Given the description of an element on the screen output the (x, y) to click on. 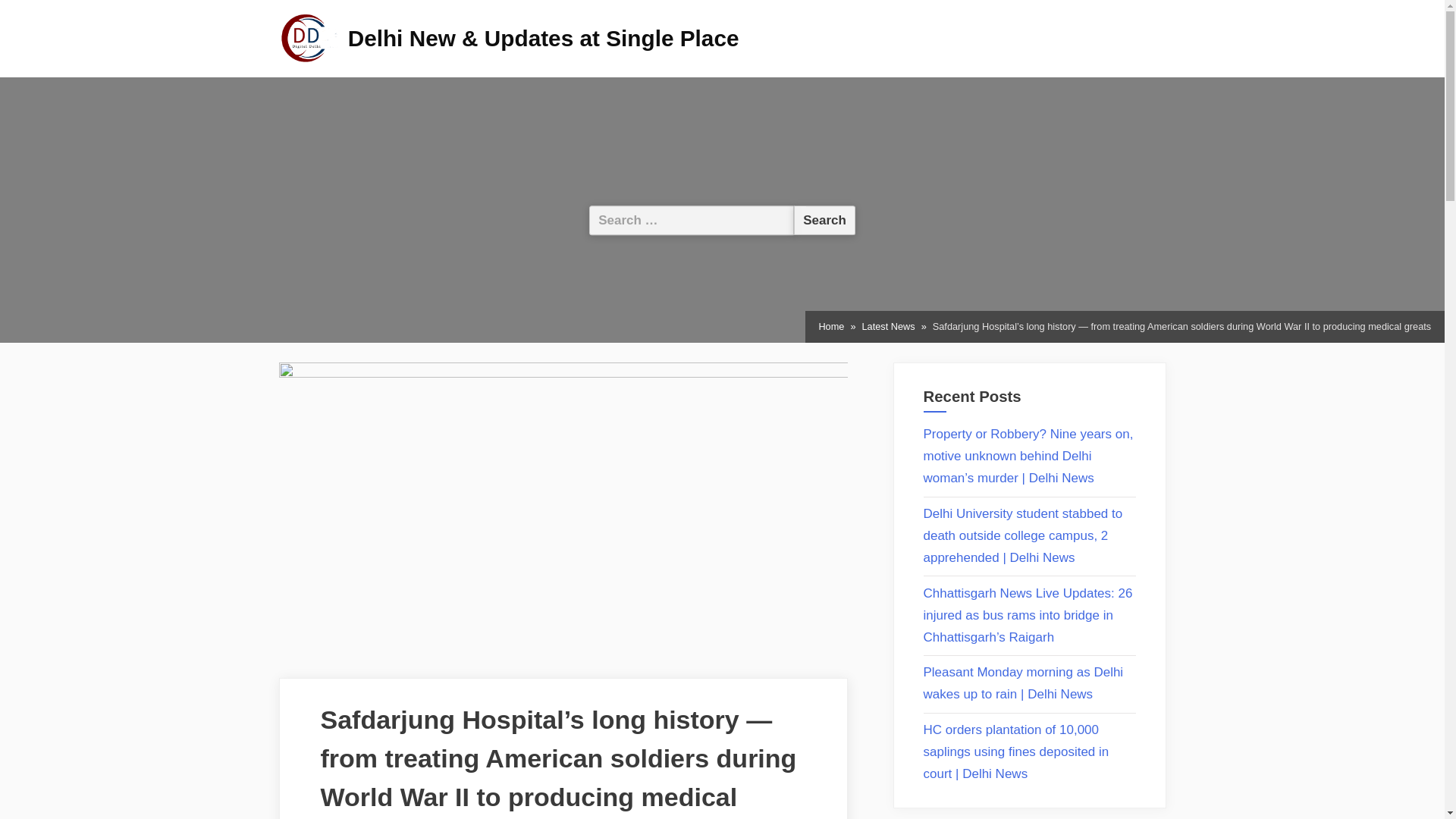
Search (824, 220)
Home (831, 326)
Search (824, 220)
Search (824, 220)
Latest News (887, 326)
